Given the description of an element on the screen output the (x, y) to click on. 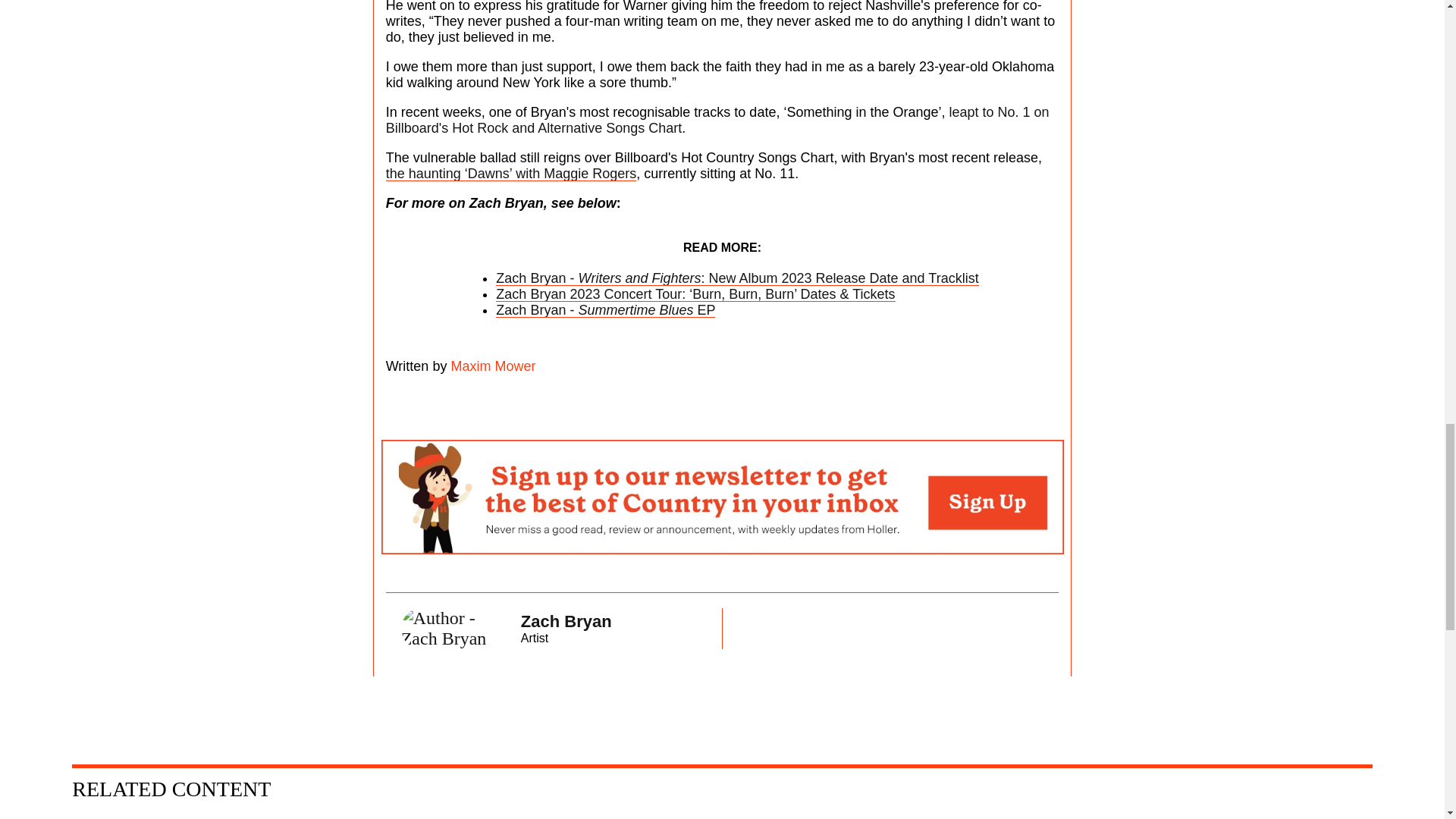
Zach Bryan - Summertime Blues EP (605, 309)
Maxim Mower (490, 365)
